Given the description of an element on the screen output the (x, y) to click on. 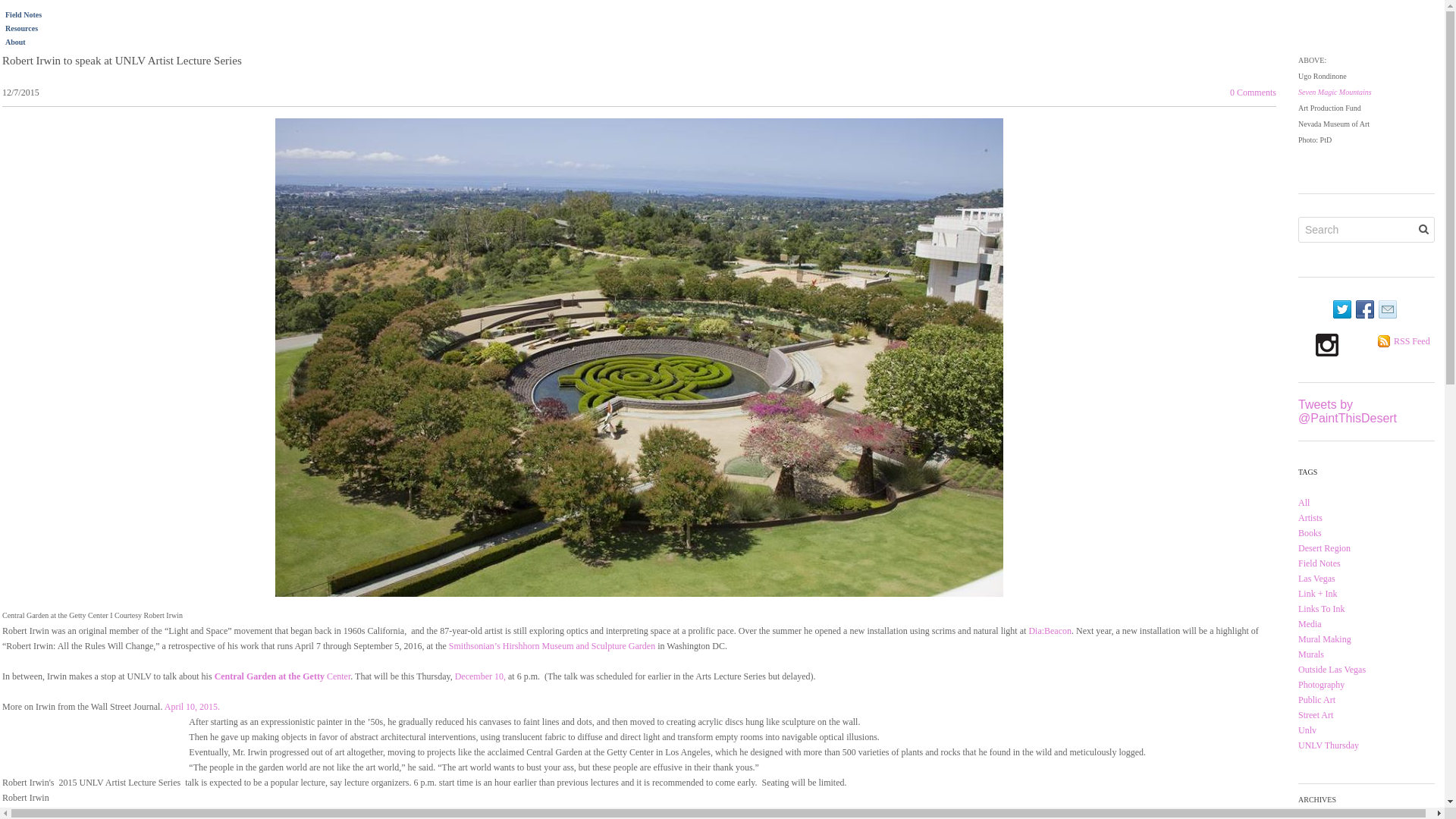
Las Vegas (1316, 578)
Links To Ink (1321, 608)
RSS Feed (1411, 340)
Photography (1320, 684)
Mural Making (1324, 638)
Outside Las Vegas (1331, 669)
Public Art (1316, 699)
Artists (1310, 517)
 Central Garden at the Getty Center (281, 675)
Books (1310, 532)
Search (1423, 229)
All (1303, 502)
Unlv (1307, 729)
Dia:Beacon (1049, 629)
UNLV Thursday (1328, 745)
